Given the description of an element on the screen output the (x, y) to click on. 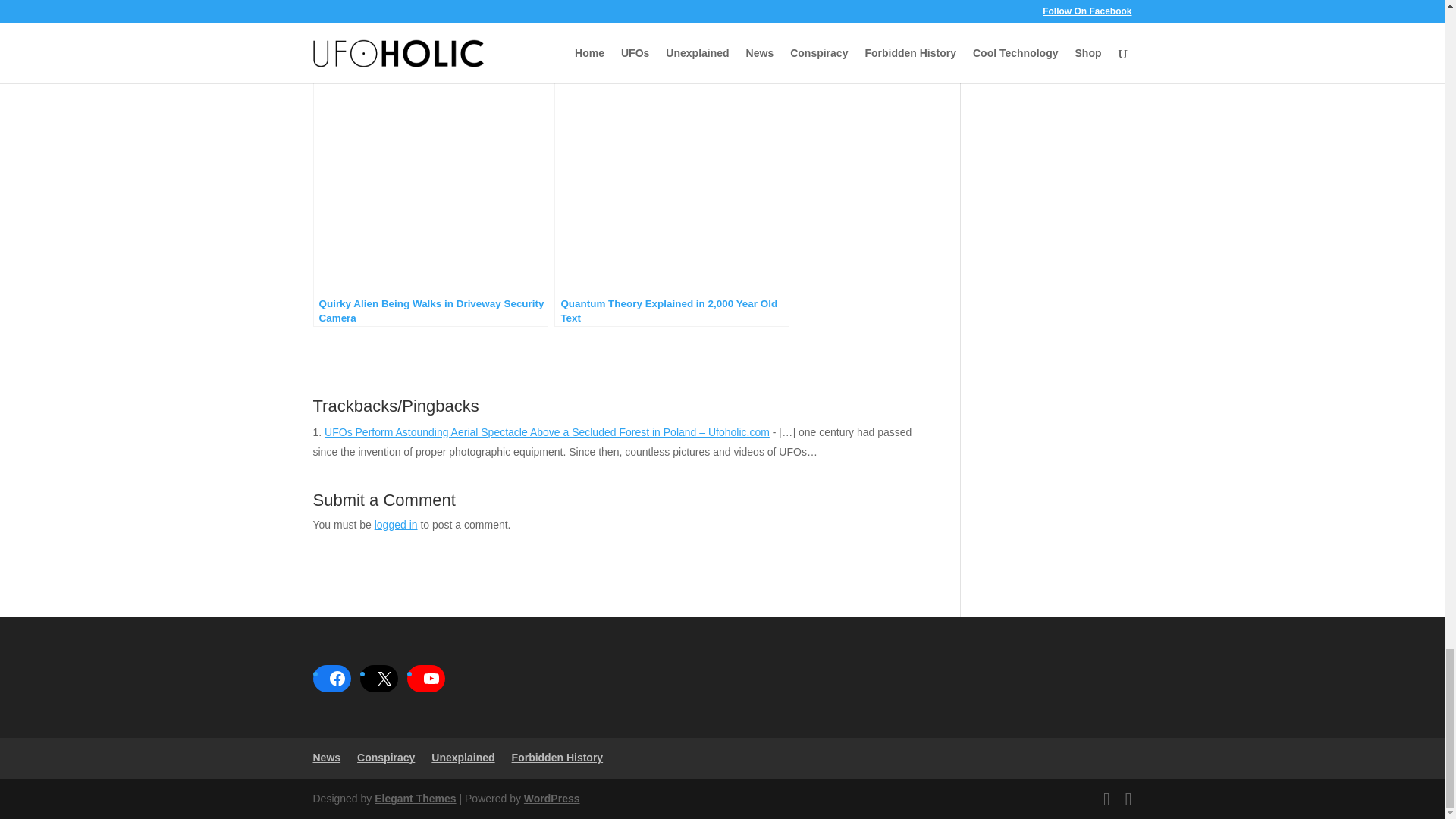
Numeric Symbol Found on Both the Moon and Mars (671, 27)
Quantum Theory Explained in 2,000 Year Old Text (671, 193)
logged in (395, 524)
Conspiracy (385, 757)
YouTube (430, 678)
Quirky Alien Being Walks in Driveway Security Camera (430, 193)
X (383, 678)
Facebook (336, 678)
Quirky Alien Being Walks in Driveway Security Camera (430, 193)
News (326, 757)
Numeric Symbol Found on Both the Moon and Mars (671, 27)
Premium WordPress Themes (414, 798)
Quantum Theory Explained in 2,000 Year Old Text (671, 193)
